Given the description of an element on the screen output the (x, y) to click on. 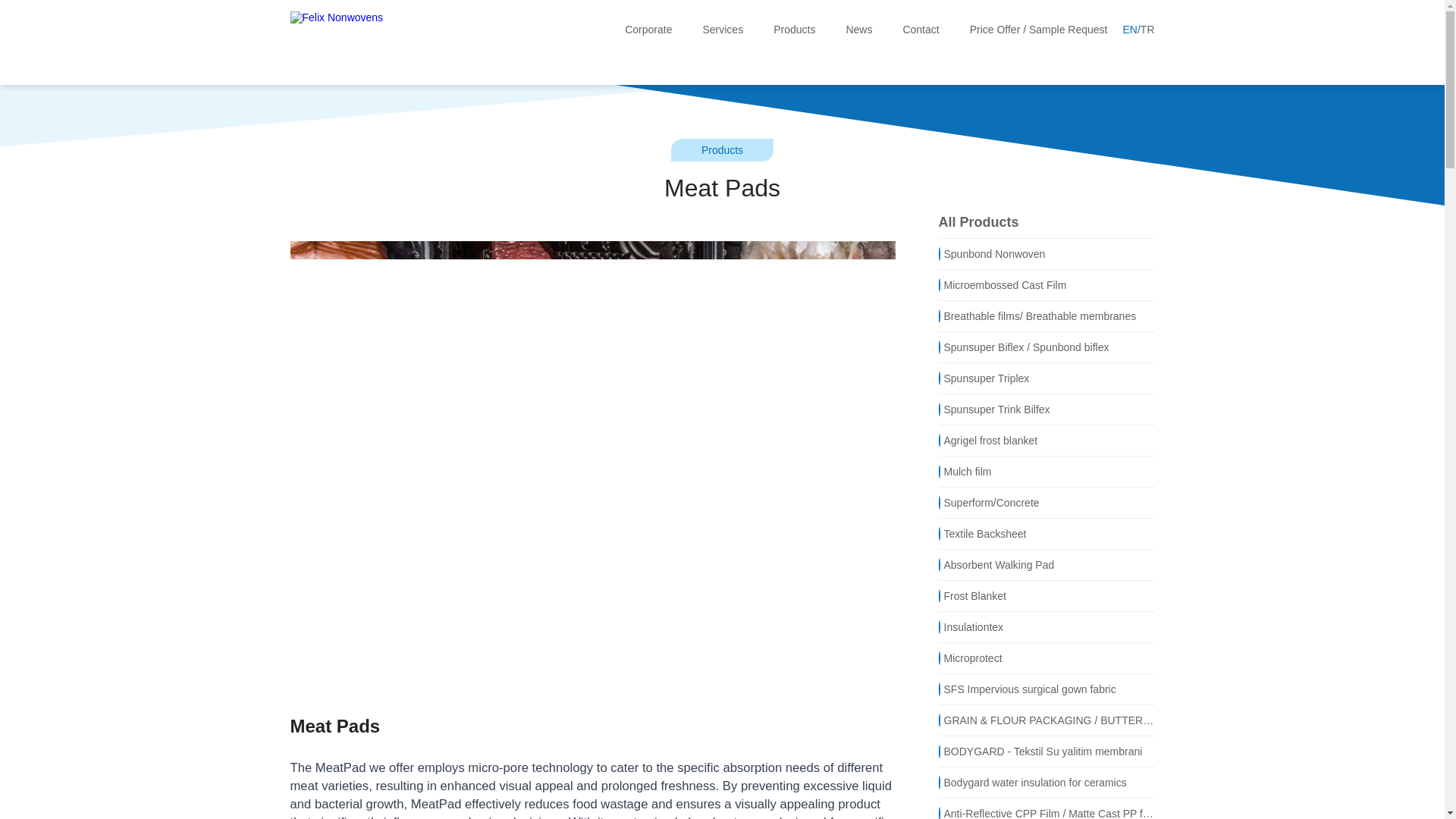
SFS Impervious surgical gown fabric (1046, 688)
Absorbent Walking Pad (1046, 564)
Contact (920, 29)
TR (1147, 29)
Agrigel frost blanket (1046, 440)
Spunsuper Trink Bilfex (1046, 409)
Insulationtex (1046, 626)
Mulch film (1046, 471)
Spunbond Nonwoven (1046, 253)
Bodygard water insulation for ceramics (1046, 782)
